Given the description of an element on the screen output the (x, y) to click on. 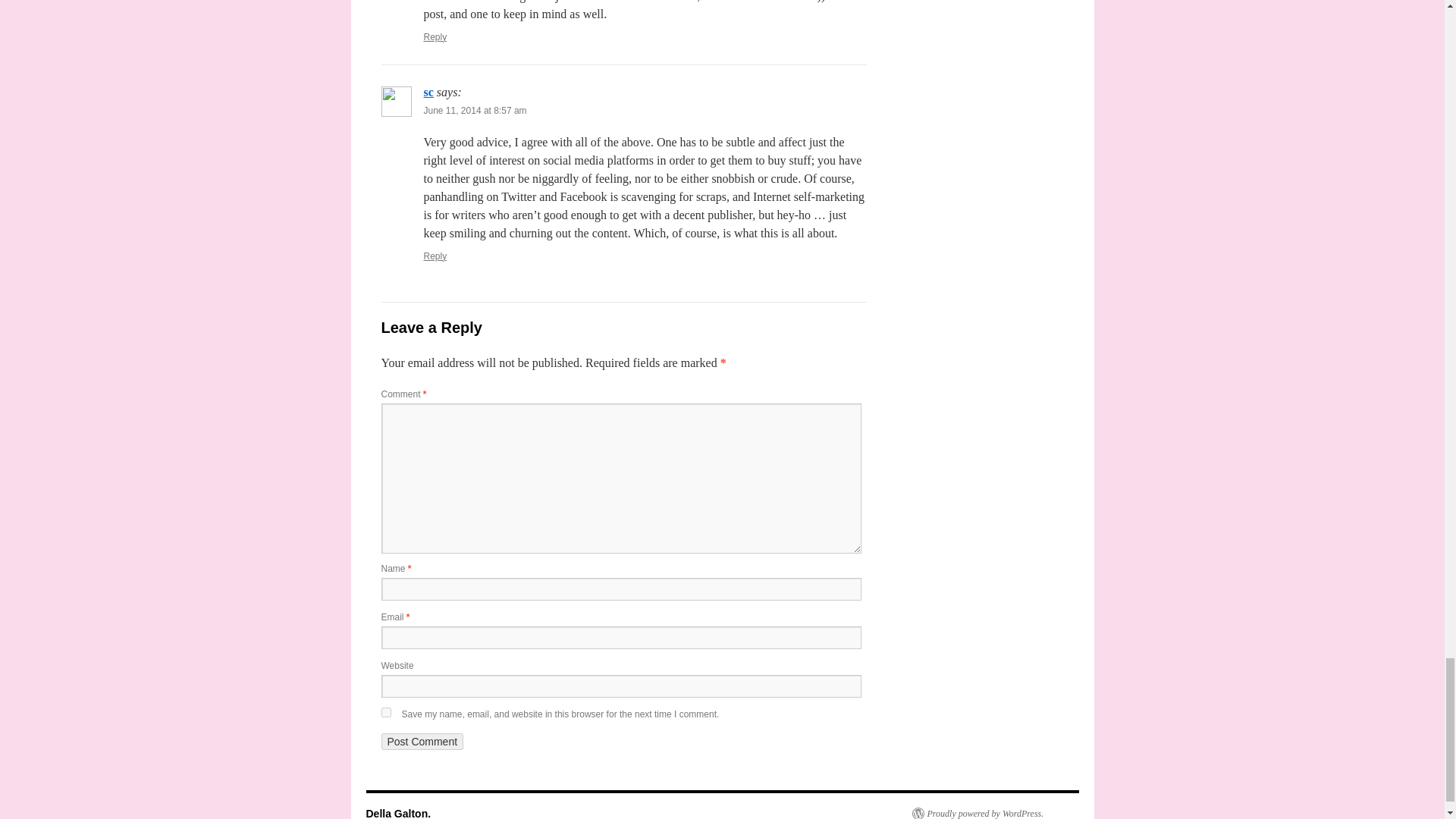
Post Comment (421, 741)
yes (385, 712)
